Given the description of an element on the screen output the (x, y) to click on. 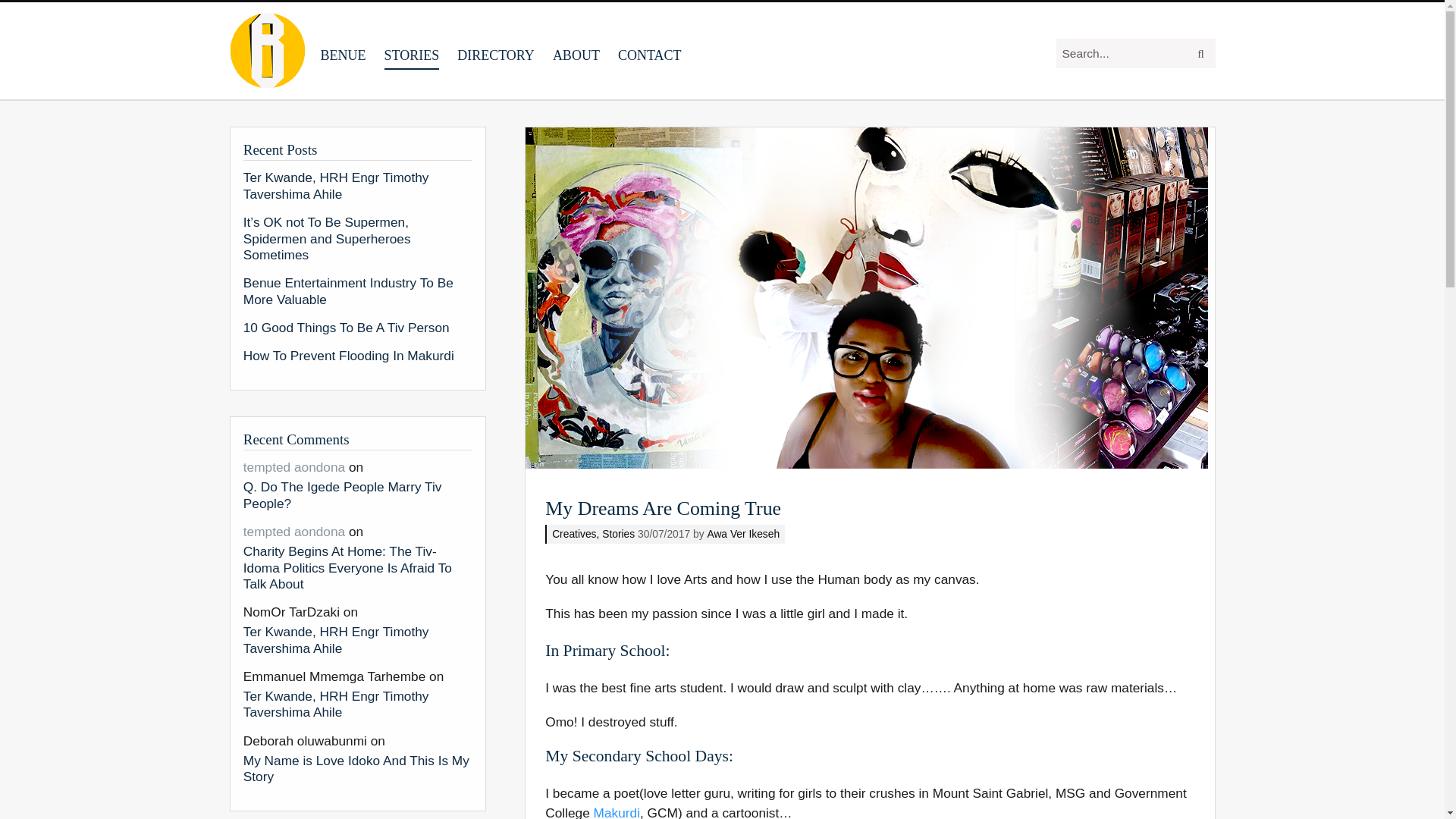
Q. Do The Igede People Marry Tiv People? (357, 493)
ABOUT (576, 48)
Makurdi (617, 811)
STORIES (411, 49)
Ter Kwande, HRH Engr Timothy Tavershima Ahile (357, 185)
CONTACT (649, 48)
DIRECTORY (495, 48)
Benue Entertainment Industry To Be More Valuable (357, 291)
Ter Kwande, HRH Engr Timothy Tavershima Ahile (357, 703)
BENUE (342, 48)
Search... (1120, 52)
tempted aondona (294, 467)
Ter Kwande, HRH Engr Timothy Tavershima Ahile (357, 638)
tempted aondona (294, 531)
